Given the description of an element on the screen output the (x, y) to click on. 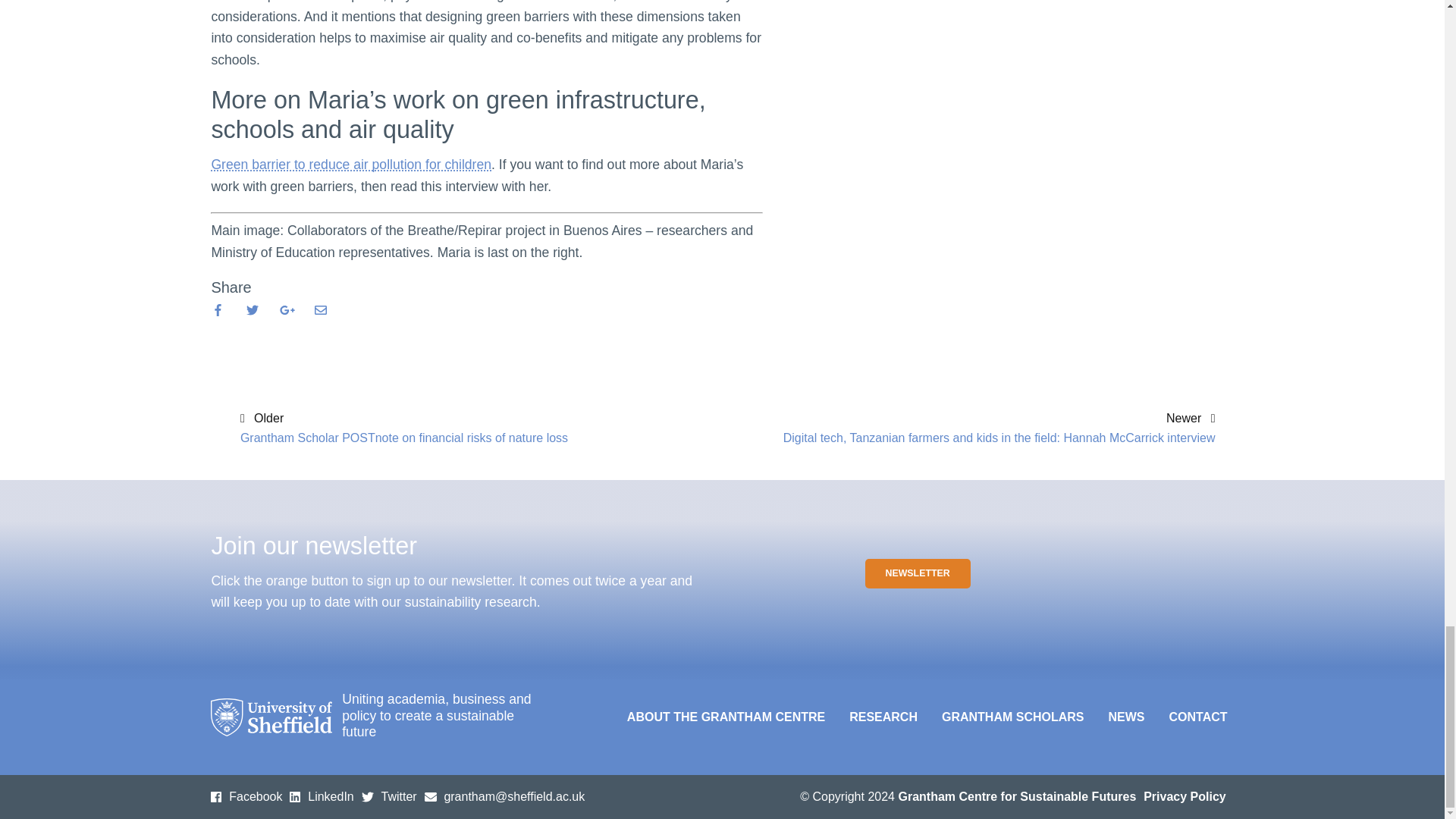
Email (505, 797)
Facebook (246, 797)
Twitter (388, 797)
Green barrier to reduce air pollution for children (351, 164)
LinkedIn (321, 797)
